Given the description of an element on the screen output the (x, y) to click on. 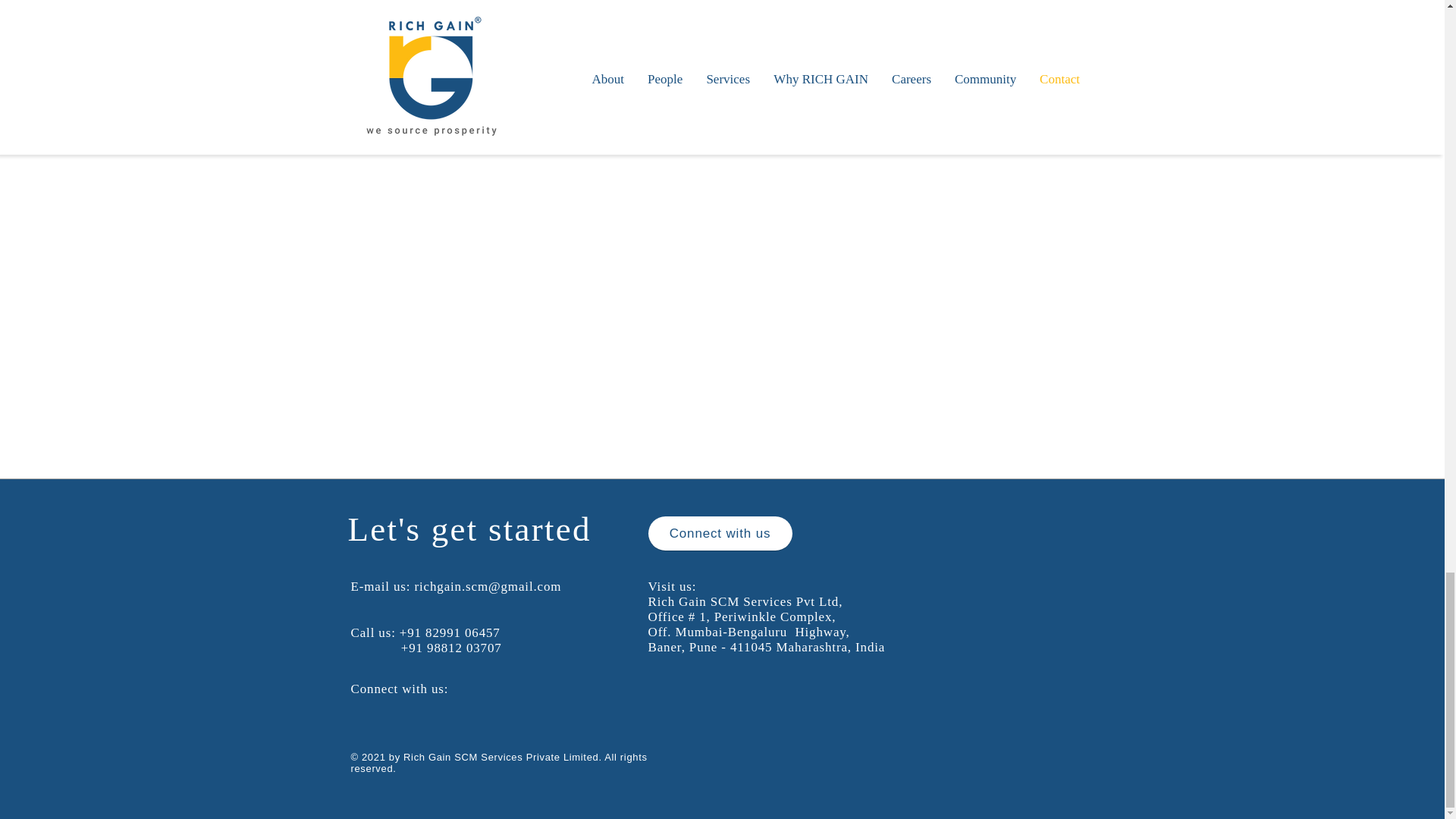
Off. Mumbai-Bengaluru  Highway, (844, 95)
Rich Gain SCM Services (720, 601)
Baner, (967, 95)
Rich Gain SCM Services Pvt Ltd, (451, 95)
82991 06457 (772, 28)
Pvt Ltd, (819, 601)
Pune - 411045 Maharashtra, India (449, 110)
Off. Mumbai-Bengaluru  Highway, (747, 631)
Baner, Pune - 411045 Maharashtra, India (766, 646)
